Given the description of an element on the screen output the (x, y) to click on. 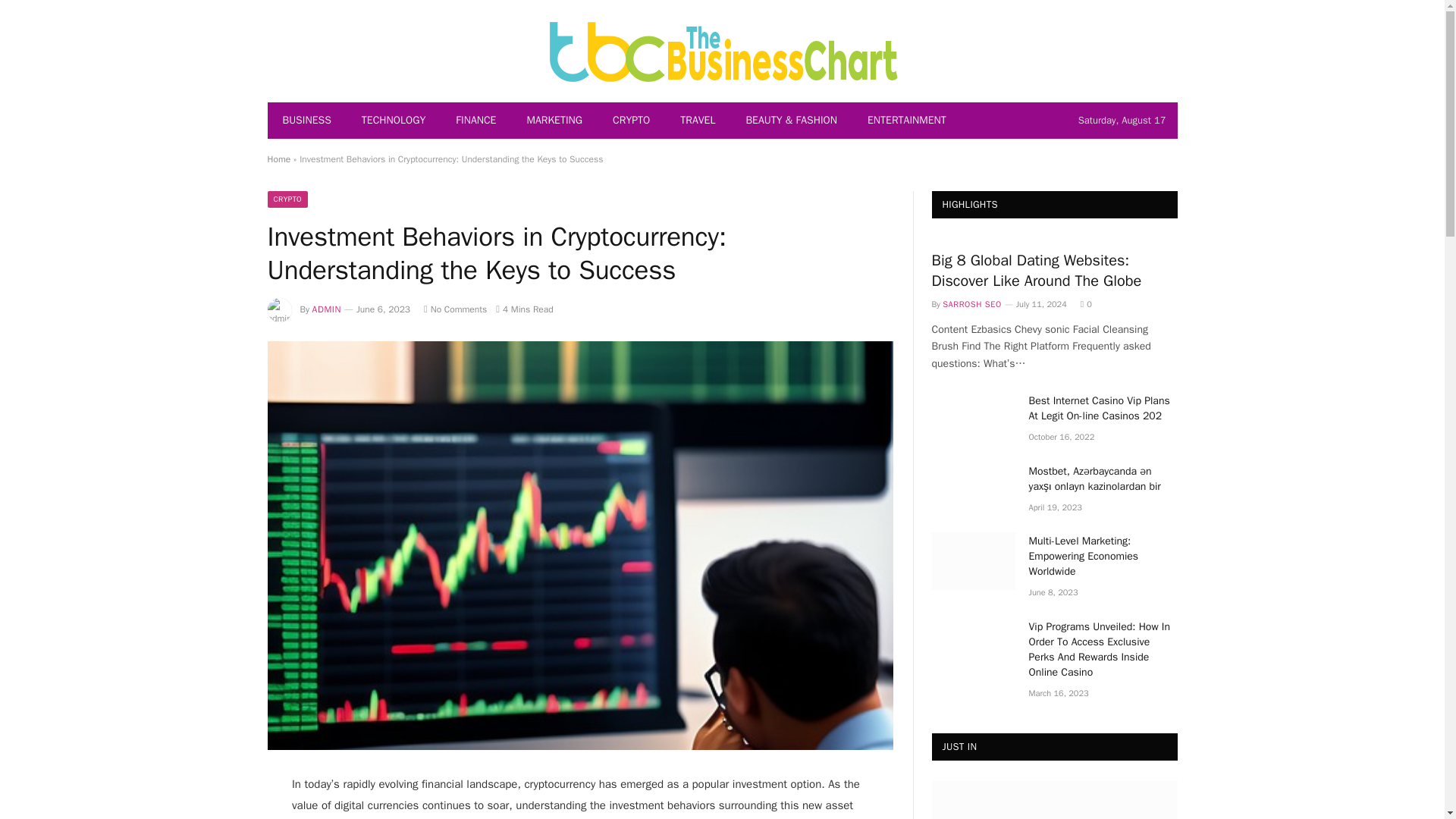
No Comments (454, 309)
CRYPTO (286, 199)
ENTERTAINMENT (905, 120)
FINANCE (476, 120)
Home (277, 159)
TECHNOLOGY (393, 120)
The Business Chart (721, 50)
ADMIN (326, 309)
MARKETING (553, 120)
